Given the description of an element on the screen output the (x, y) to click on. 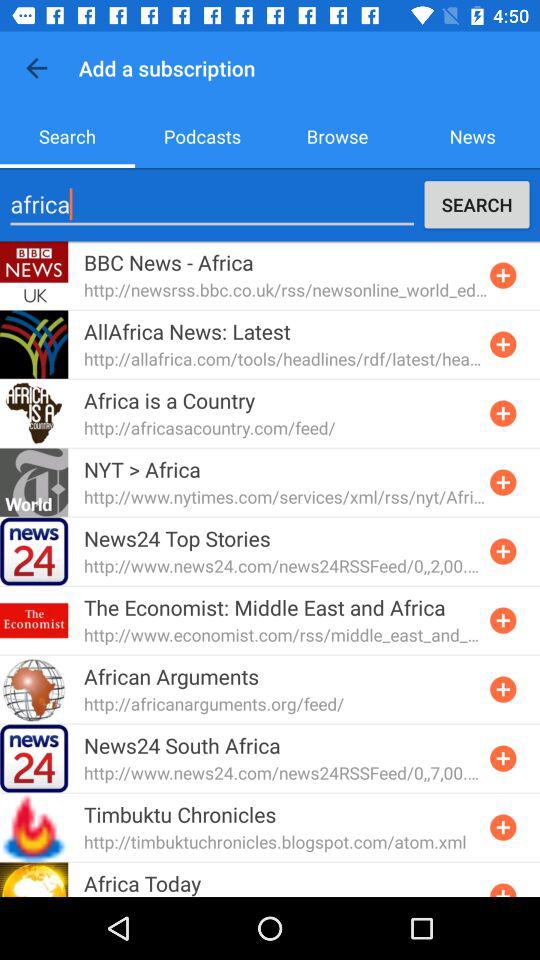
open the home page titled africa is a country (503, 413)
